Given the description of an element on the screen output the (x, y) to click on. 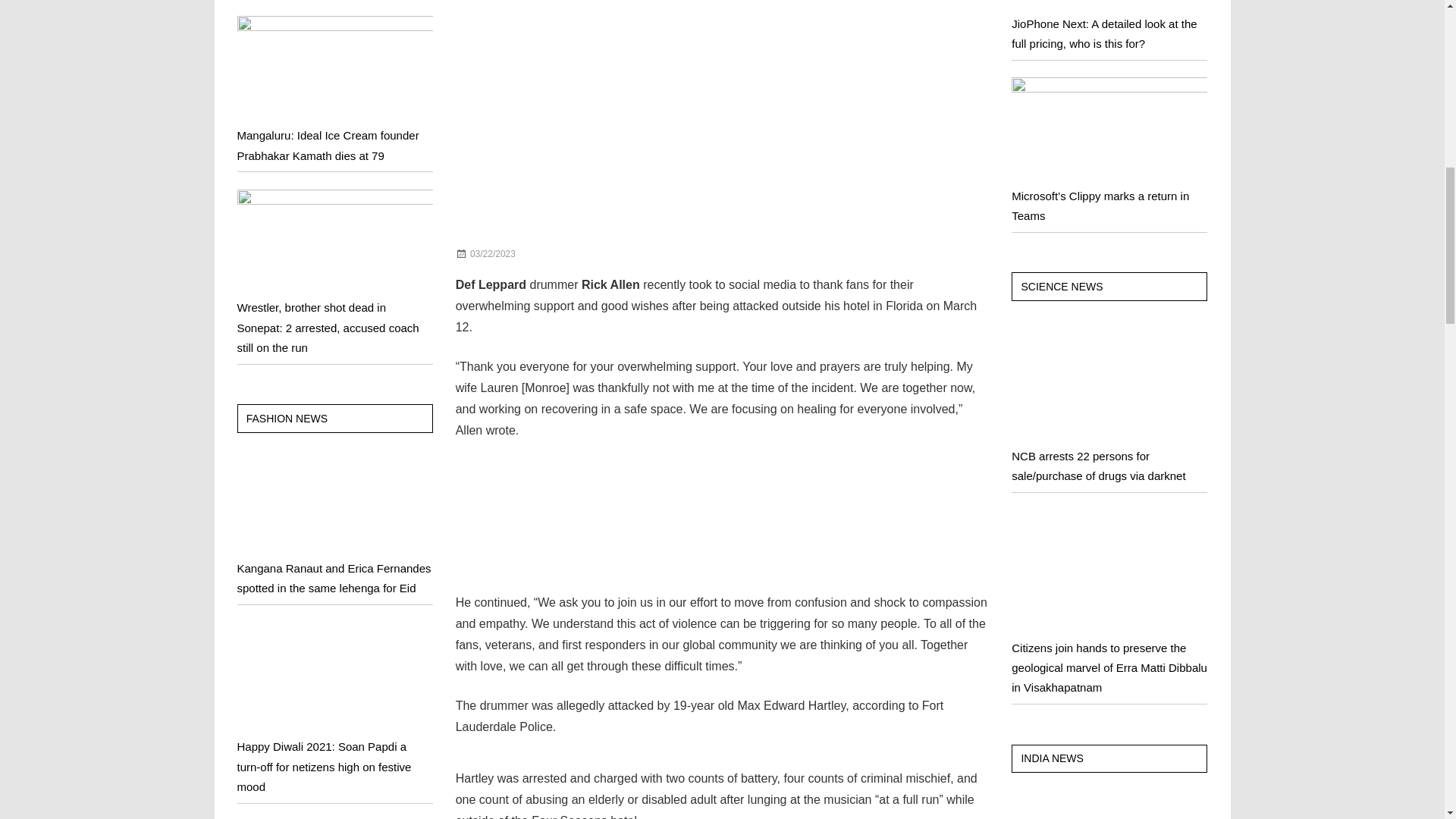
celebrity (558, 253)
Scott (551, 253)
View all posts by Scott (551, 253)
19:29 (492, 253)
